Given the description of an element on the screen output the (x, y) to click on. 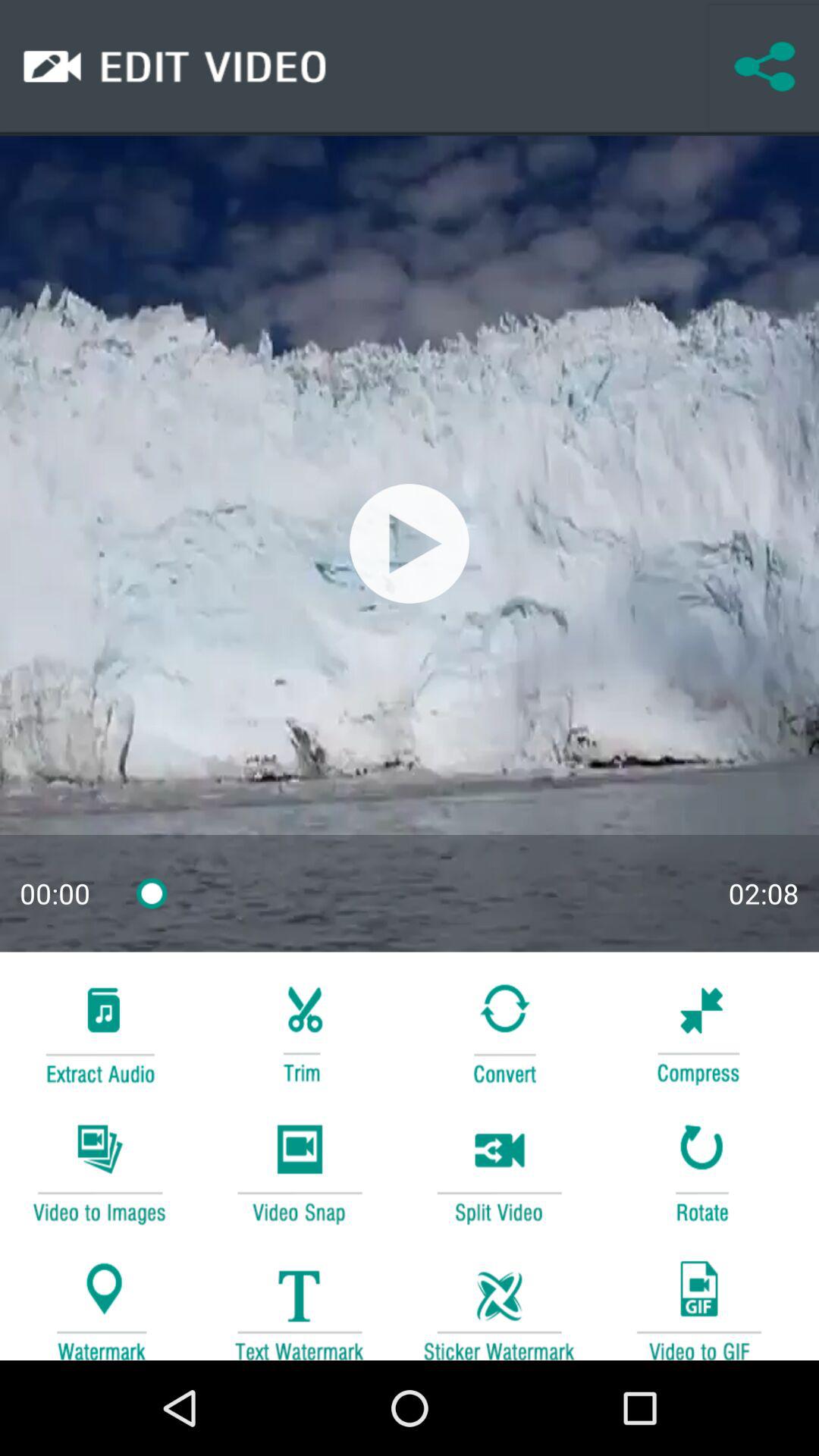
audio button (99, 1032)
